Given the description of an element on the screen output the (x, y) to click on. 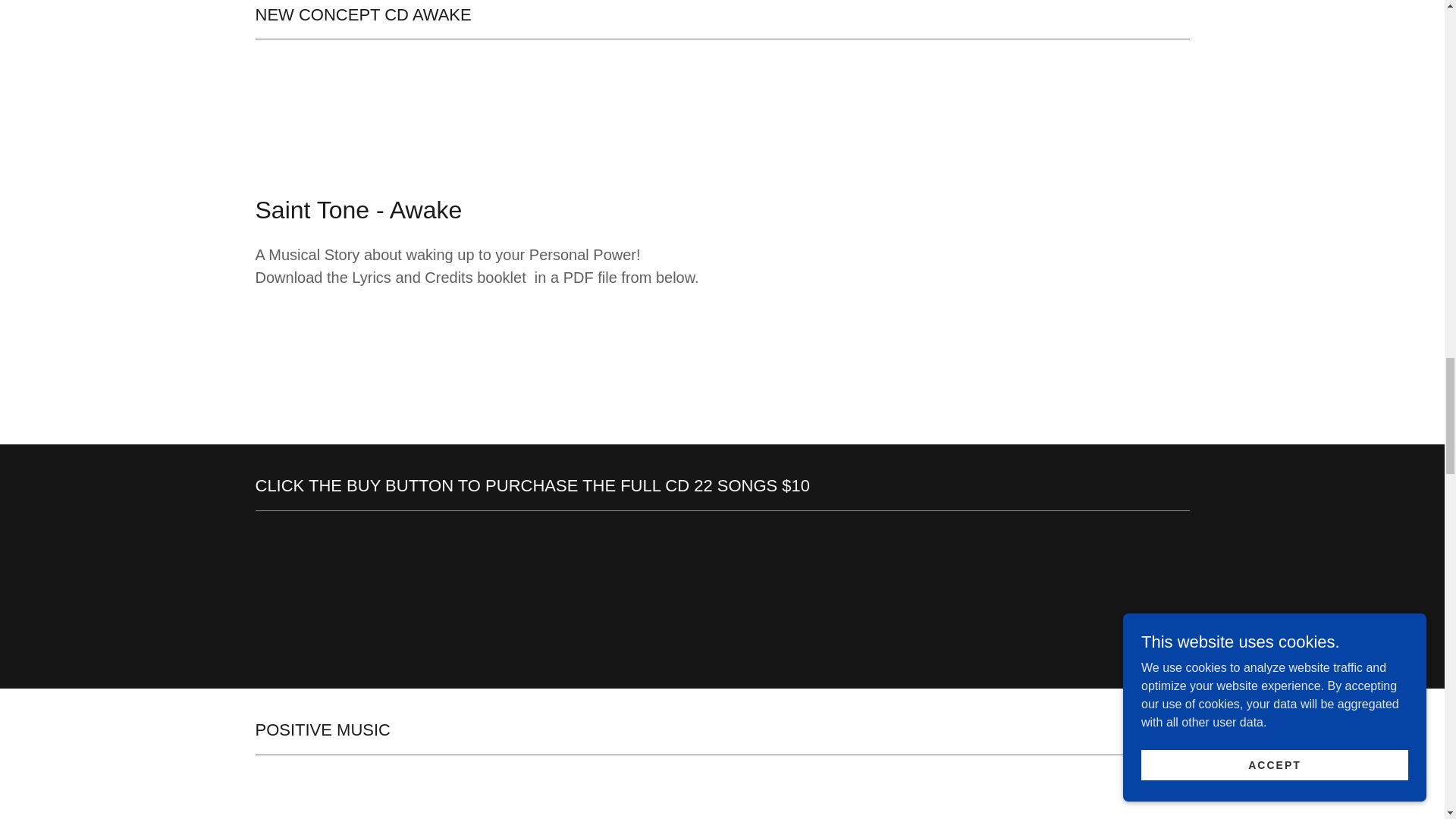
Clickable audio widget (964, 802)
